Given the description of an element on the screen output the (x, y) to click on. 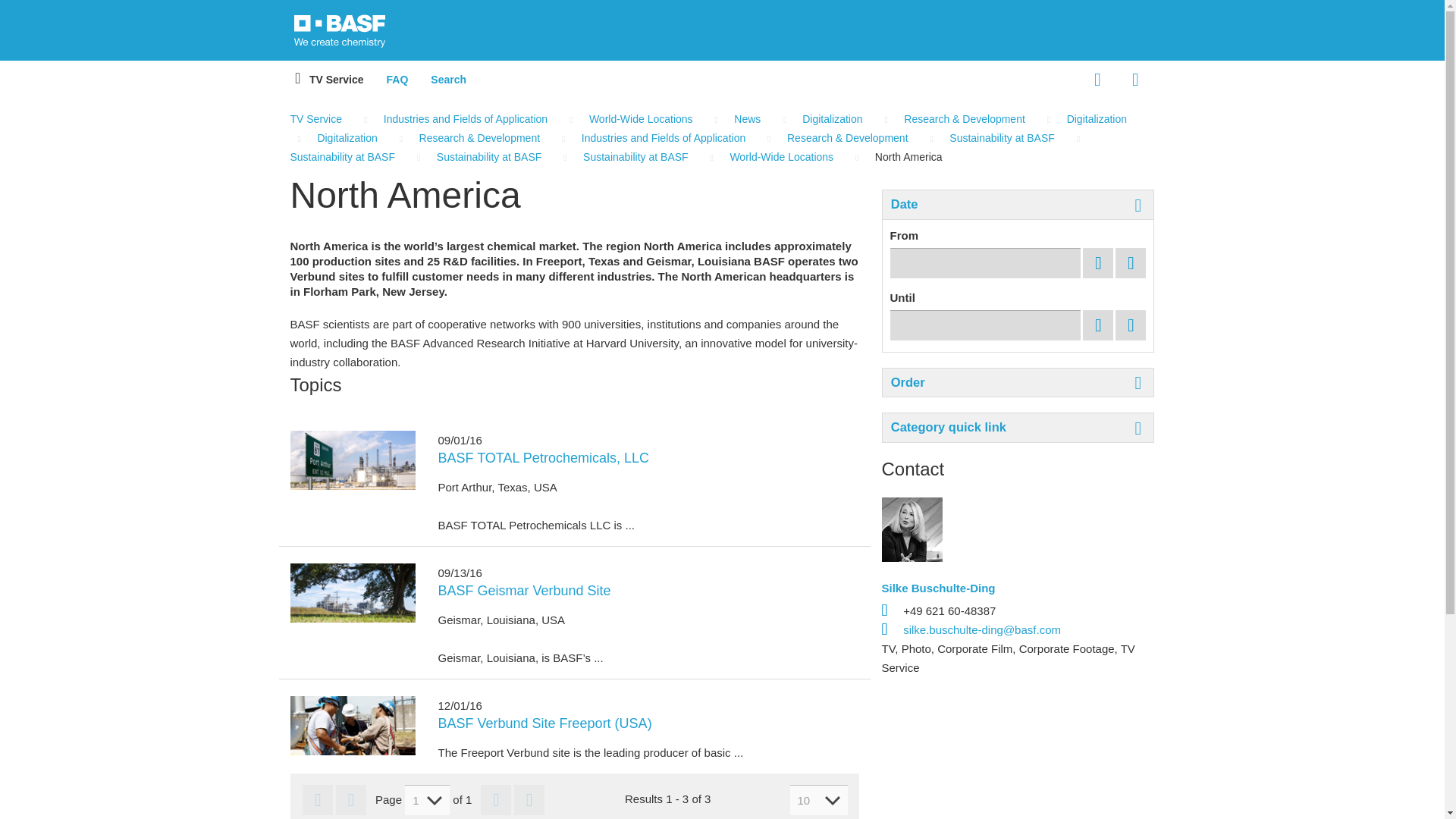
Select date (1098, 262)
Sustainability at BASF (628, 156)
previous page (351, 799)
Delete date (1130, 262)
last page (528, 799)
Results per page (818, 799)
Select date (1098, 324)
 Central European Time (985, 262)
Log in (1135, 79)
Search (448, 79)
North America (900, 156)
TV Service (322, 119)
Sustainability at BASF (691, 146)
News (740, 119)
Language (1097, 79)
